Given the description of an element on the screen output the (x, y) to click on. 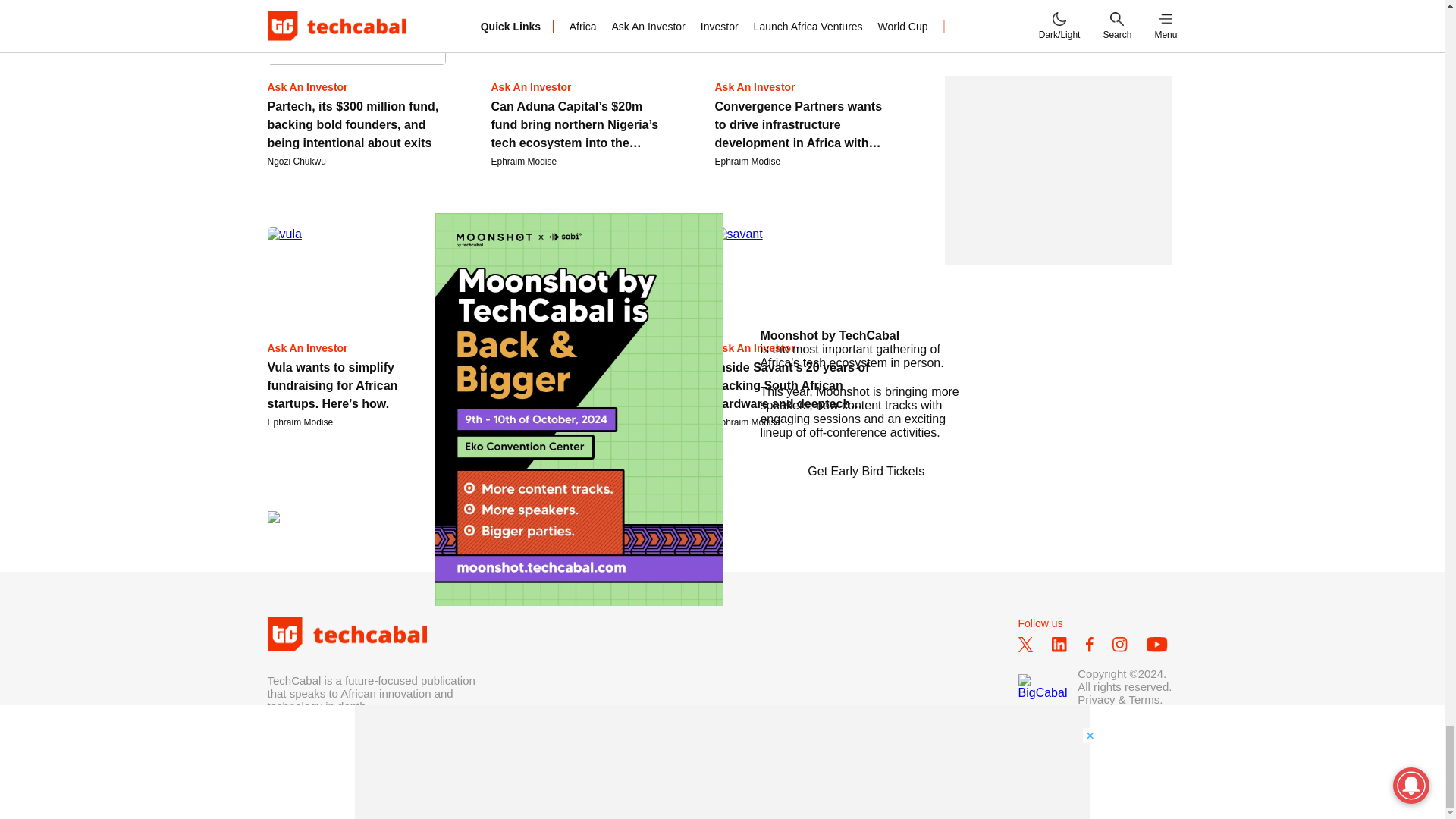
Posts by Ephraim Modise (524, 421)
Posts by Ephraim Modise (747, 161)
Posts by Ephraim Modise (299, 421)
Posts by Ephraim Modise (524, 161)
Posts by Ngozi Chukwu (295, 161)
Posts by Ephraim Modise (747, 421)
